Given the description of an element on the screen output the (x, y) to click on. 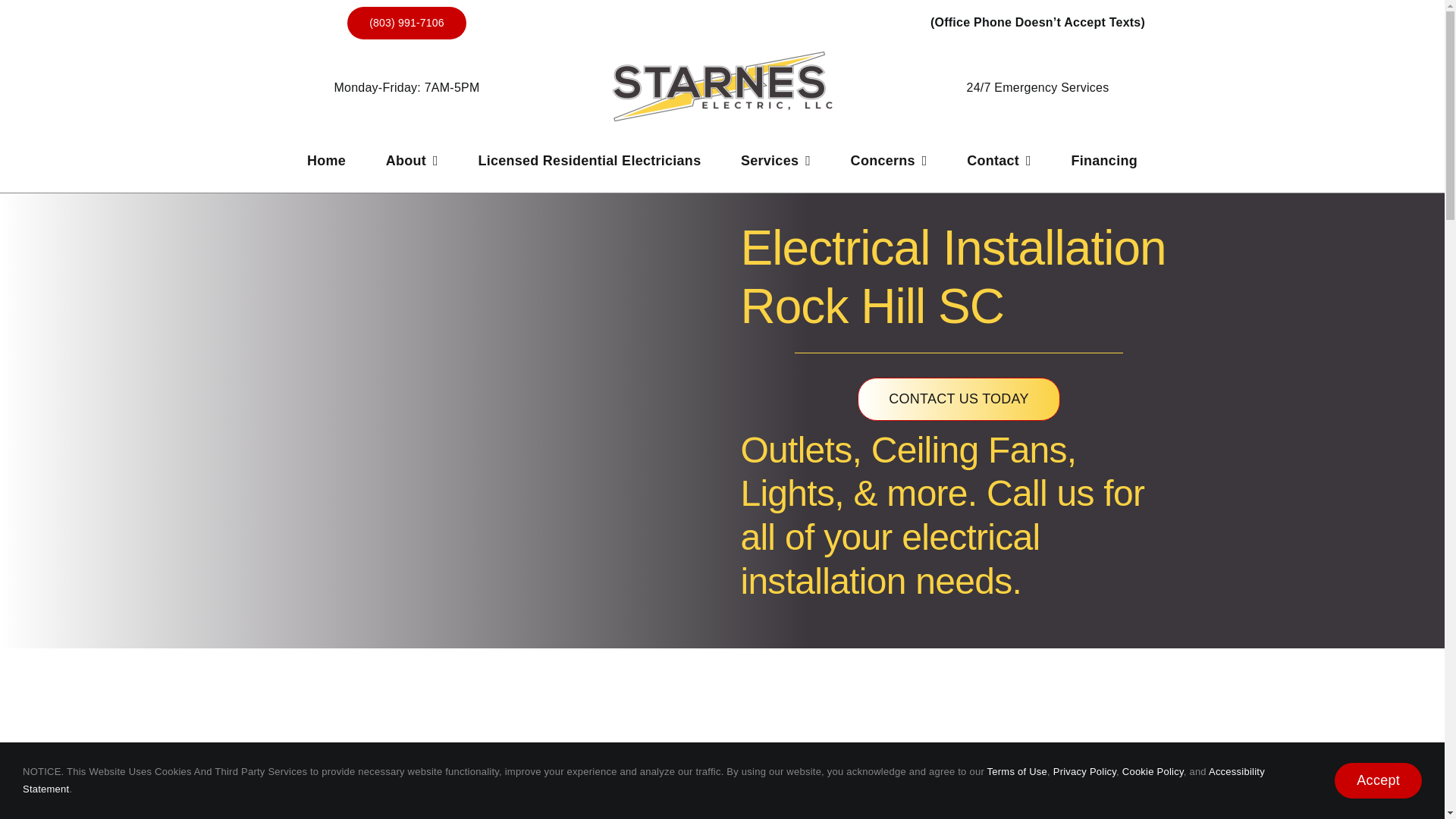
About (411, 156)
Licensed Residential Electricians (588, 156)
Home (326, 156)
Financing (1103, 156)
Concerns (888, 156)
repair services (719, 809)
Contact (998, 156)
CONTACT US TODAY (958, 398)
Services (775, 156)
